Given the description of an element on the screen output the (x, y) to click on. 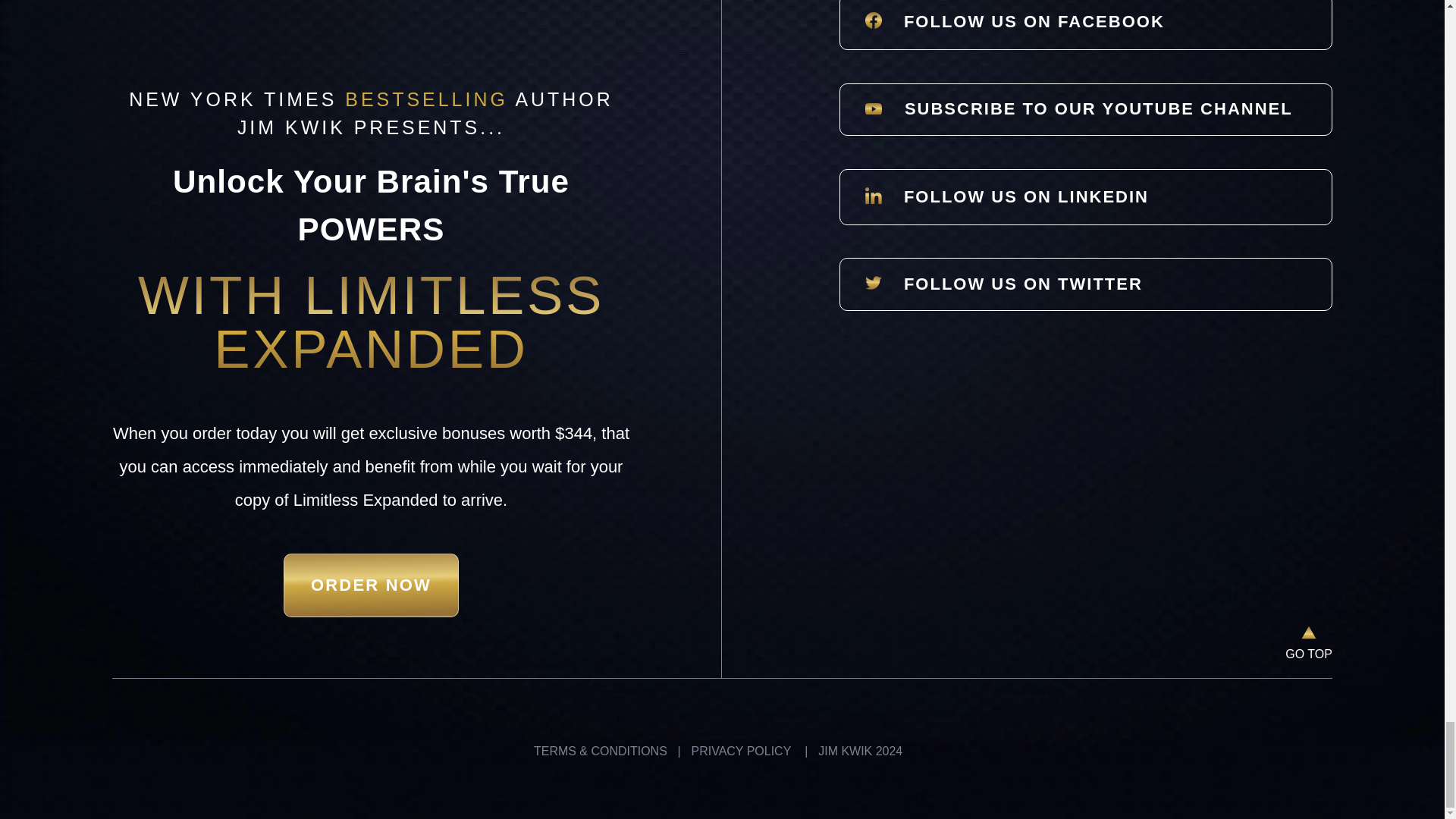
SUBSCRIBE TO OUR YOUTUBE CHANNEL (1086, 109)
PRIVACY POLICY (740, 750)
FOLLOW US ON FACEBOOK (1086, 24)
GO TOP (1308, 653)
ORDER NOW (370, 585)
FOLLOW US ON TWITTER (1086, 284)
FOLLOW US ON LINKEDIN (1086, 196)
